Given the description of an element on the screen output the (x, y) to click on. 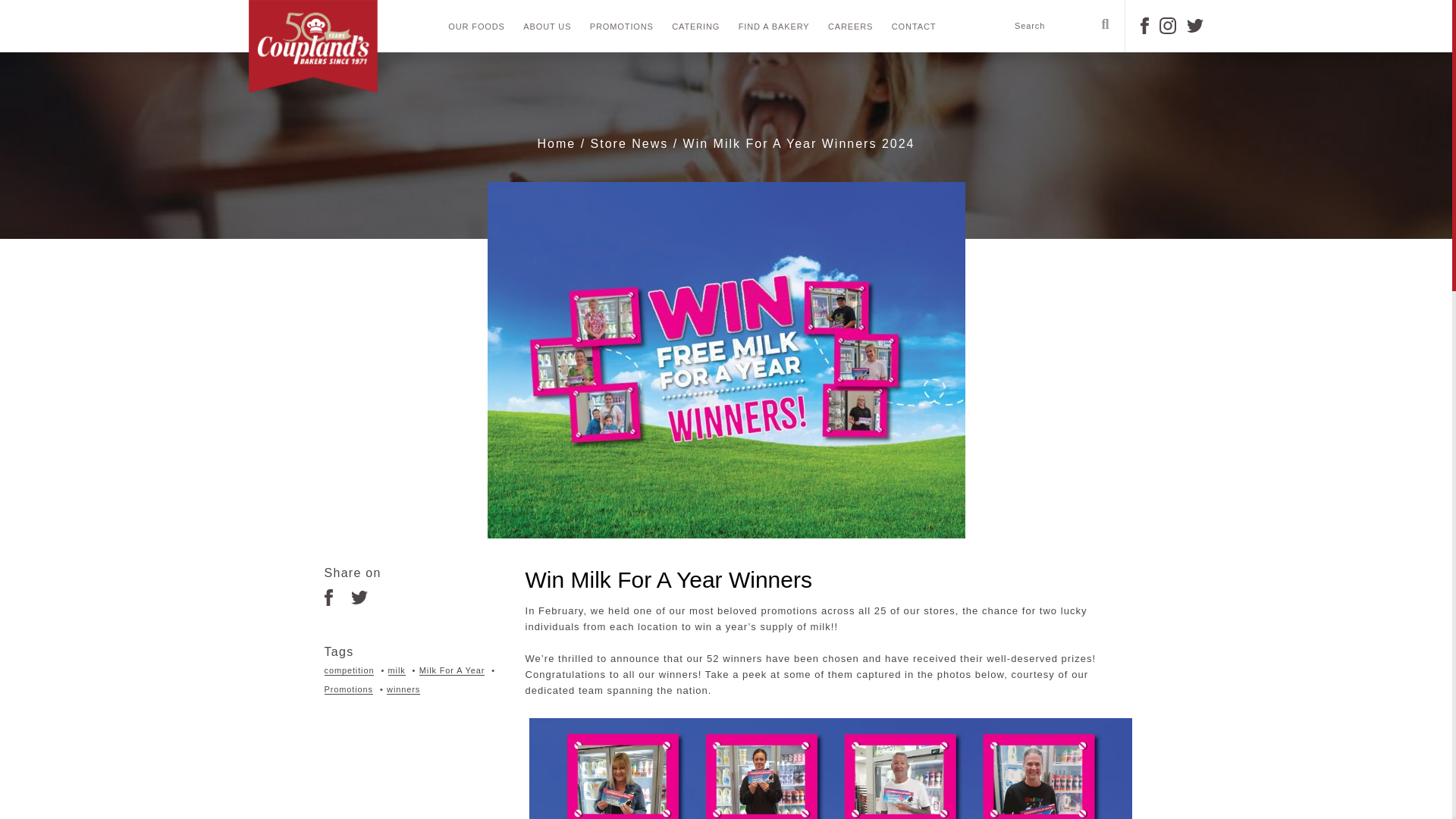
competition (349, 670)
PROMOTIONS (621, 26)
OUR FOODS (476, 26)
CONTACT (913, 26)
ABOUT US (546, 26)
FIND A BAKERY (773, 26)
milk (397, 670)
CATERING (695, 26)
Home (556, 143)
CAREERS (850, 26)
Milk For A Year (451, 670)
Store News (629, 143)
